Given the description of an element on the screen output the (x, y) to click on. 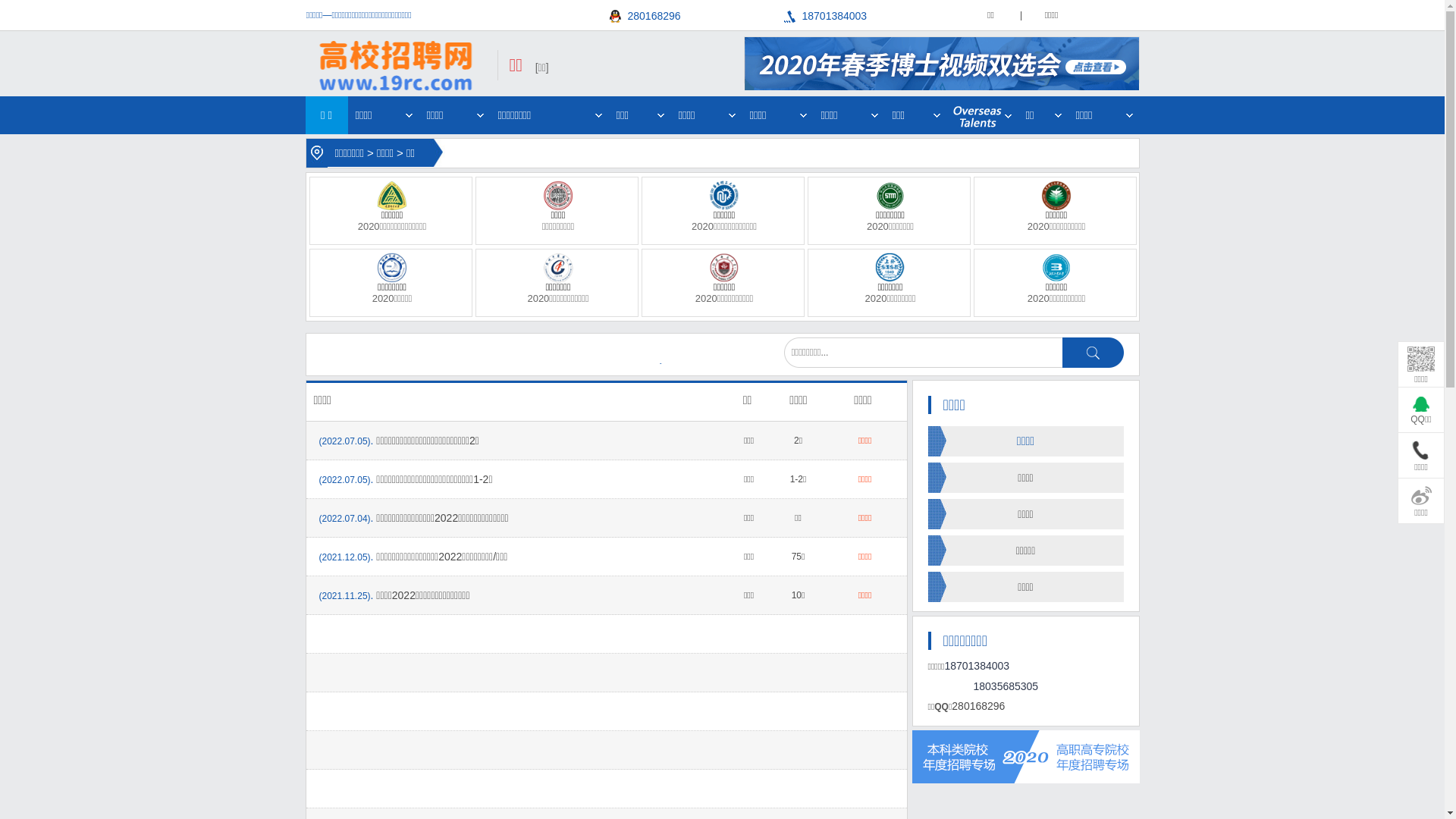
280168296 Element type: text (696, 15)
280168296 Element type: text (977, 705)
18701384003 Element type: text (871, 15)
